Given the description of an element on the screen output the (x, y) to click on. 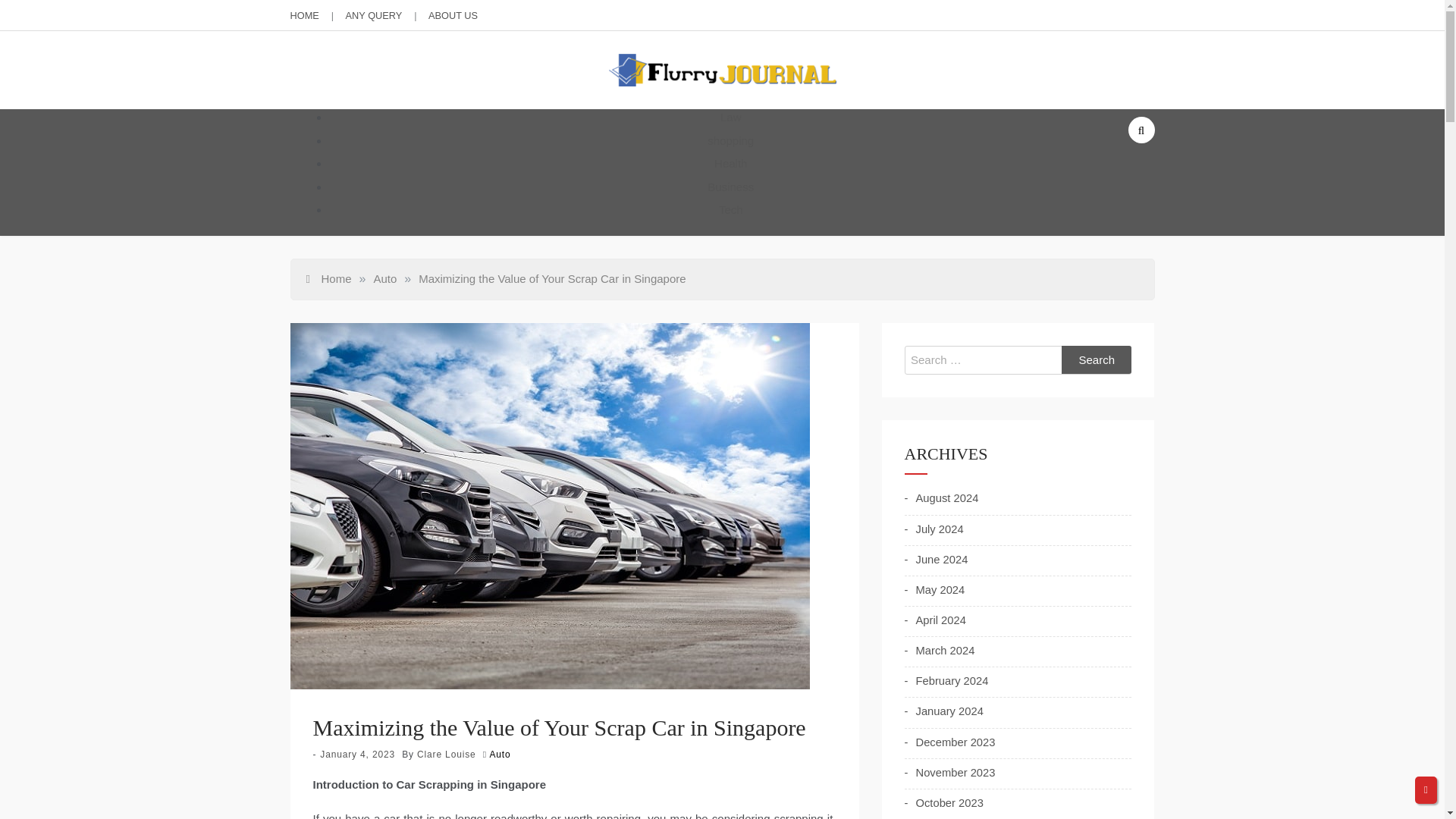
ABOUT US (452, 15)
Law (730, 116)
Maximizing the Value of Your Scrap Car in Singapore (552, 278)
HOME (303, 15)
April 2024 (934, 619)
Health (730, 163)
May 2024 (933, 589)
shopping (730, 140)
Home (328, 278)
Search (1096, 359)
